Given the description of an element on the screen output the (x, y) to click on. 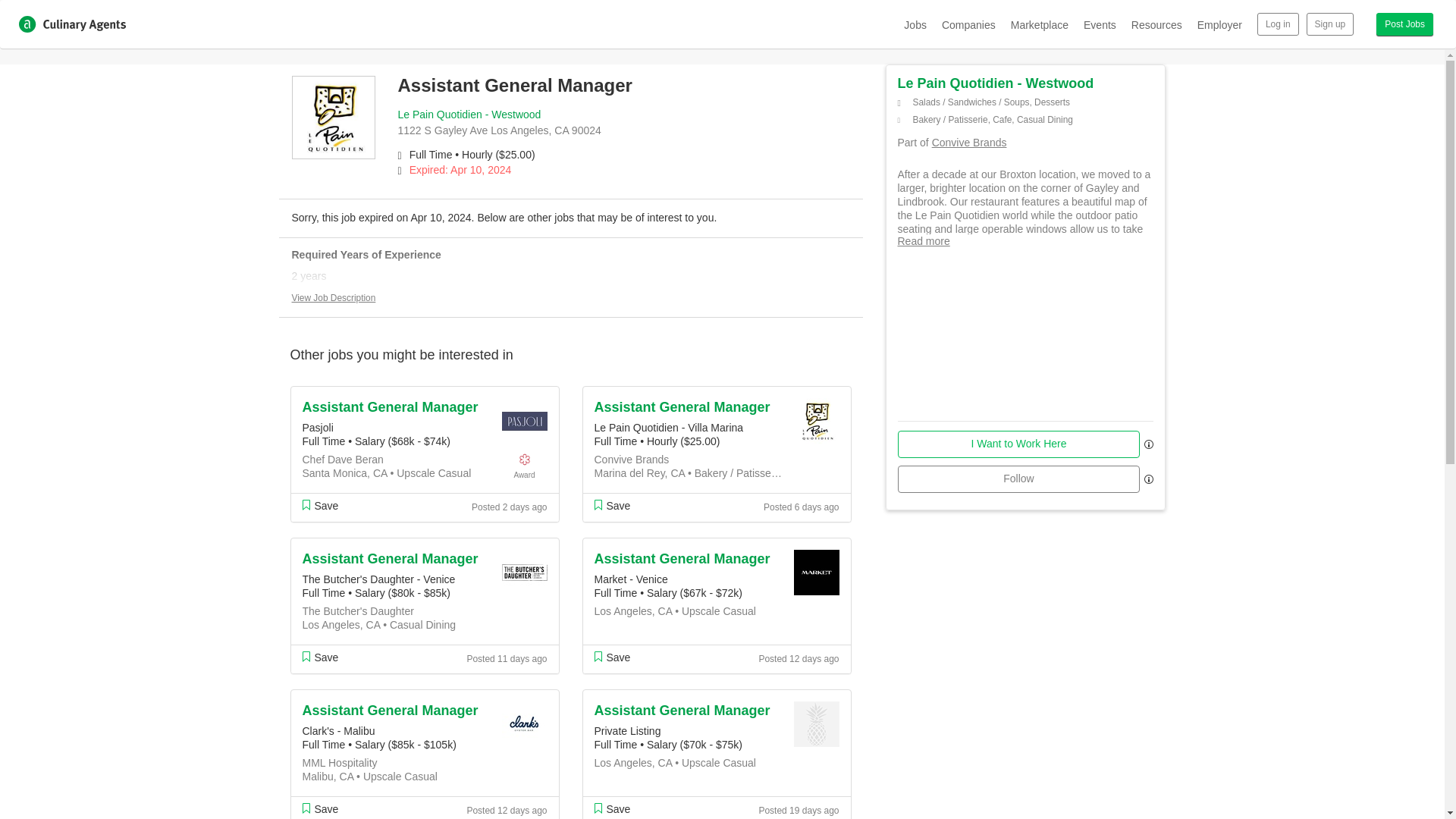
Save (612, 657)
Save (612, 808)
Resources (1156, 24)
Save (319, 808)
Save (319, 505)
Marketplace (1039, 24)
Sign up (1330, 24)
Save (612, 505)
Convive Brands (969, 142)
Employer (1218, 24)
Le Pain Quotidien - Westwood (996, 83)
I Want to Work Here (1019, 443)
Post Jobs (1403, 24)
Log in (1277, 24)
Save (319, 657)
